Given the description of an element on the screen output the (x, y) to click on. 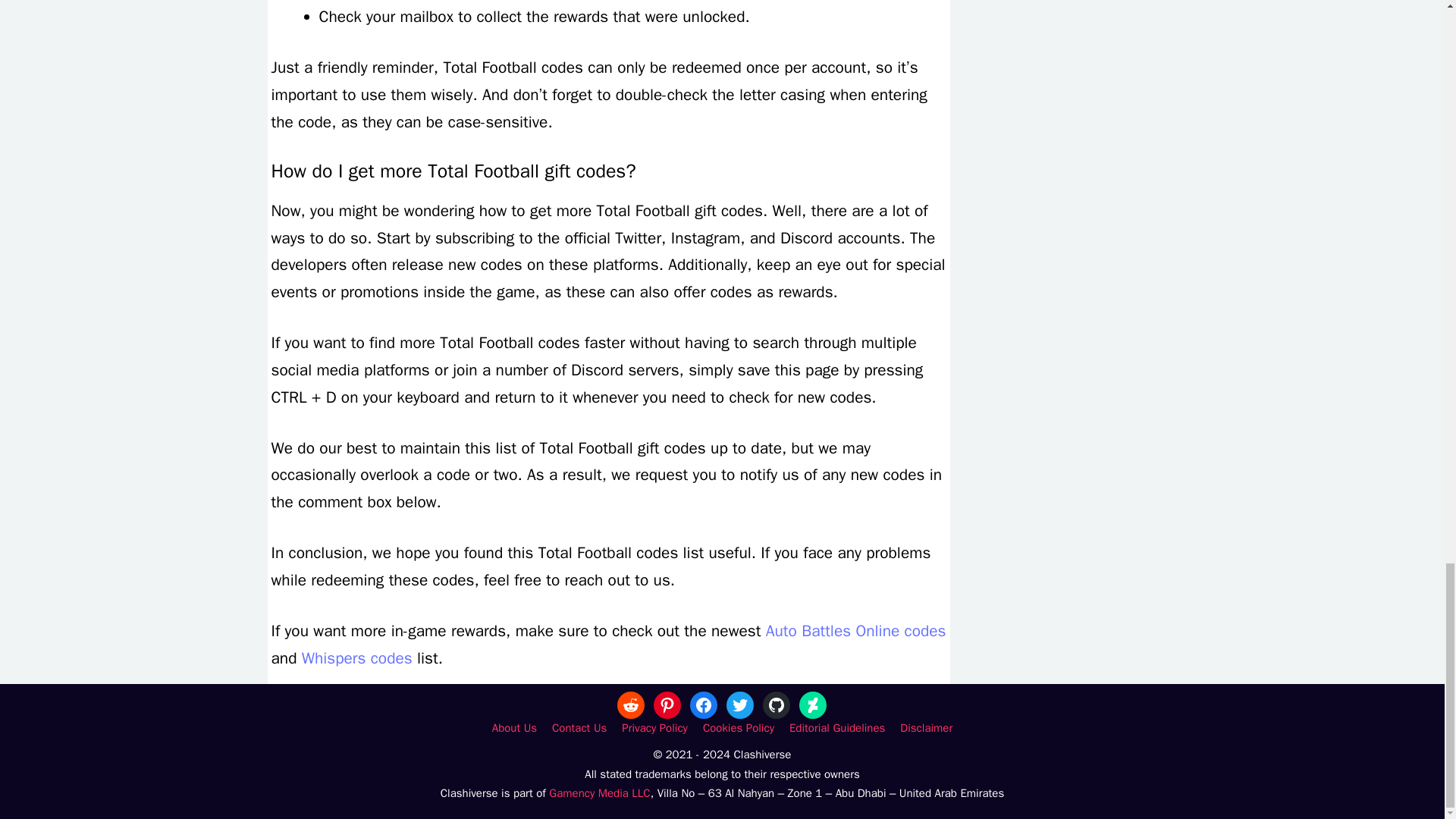
Twitter (740, 705)
Pinterest (667, 705)
Contact Us (579, 727)
Gamency Media LLC (598, 793)
Cookies Policy (738, 727)
Whispers codes (356, 658)
Auto Battles Online codes (855, 630)
Facebook (703, 705)
Editorial Guidelines (837, 727)
About Us (514, 727)
